Given the description of an element on the screen output the (x, y) to click on. 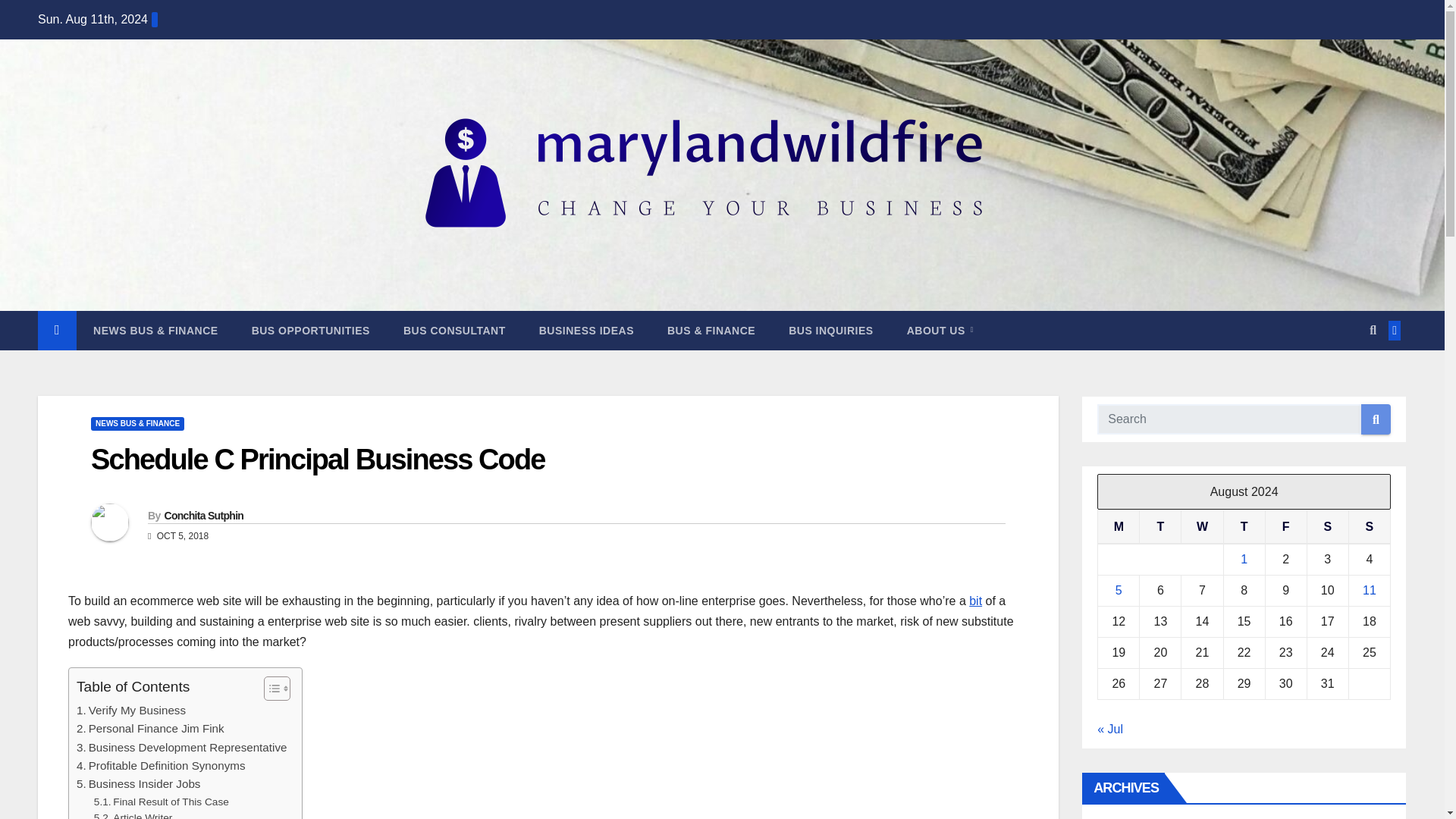
Verify My Business (131, 710)
Verify My Business (131, 710)
Personal Finance Jim Fink (150, 728)
Schedule C Principal Business Code (317, 459)
Personal Finance Jim Fink (150, 728)
About Us (939, 330)
ABOUT US (939, 330)
Final Result of This Case (161, 801)
Conchita Sutphin (203, 515)
Business Insider Jobs (138, 783)
